Given the description of an element on the screen output the (x, y) to click on. 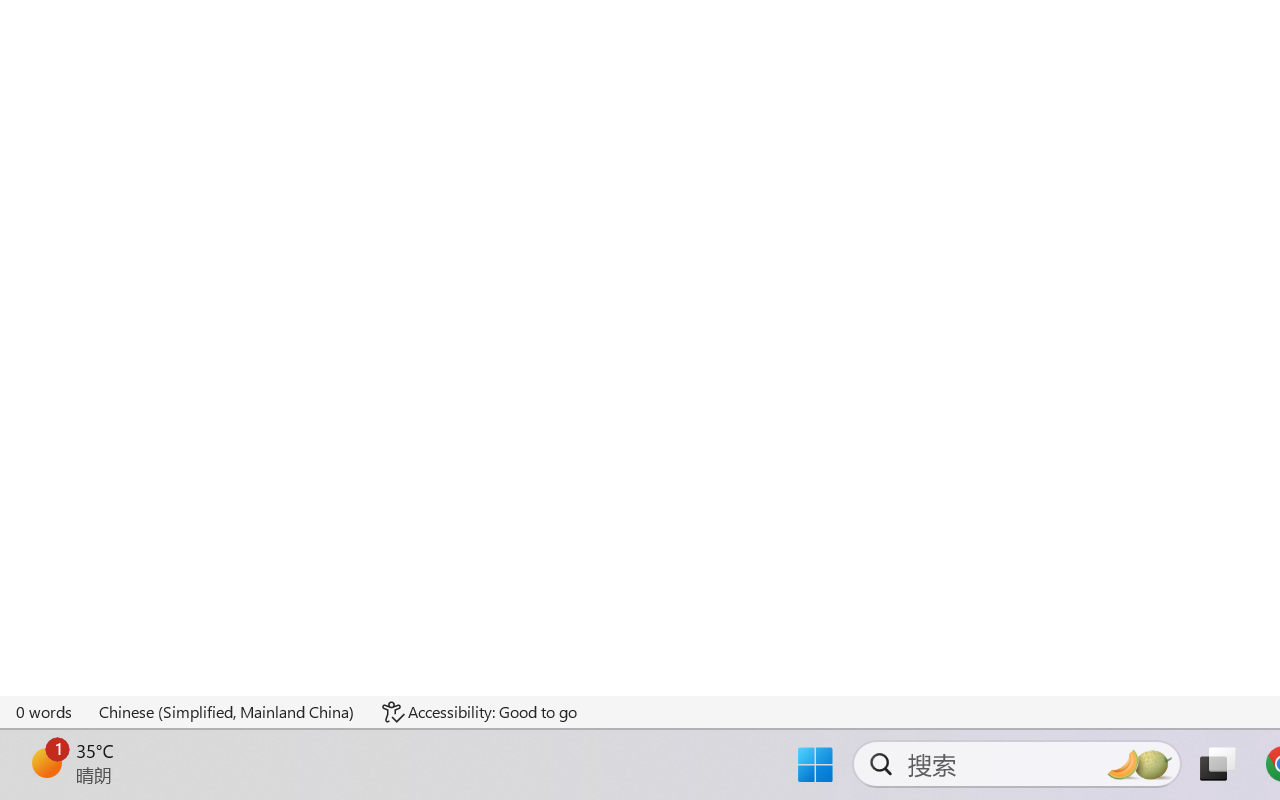
Language Chinese (Simplified, Mainland China) (227, 712)
